Given the description of an element on the screen output the (x, y) to click on. 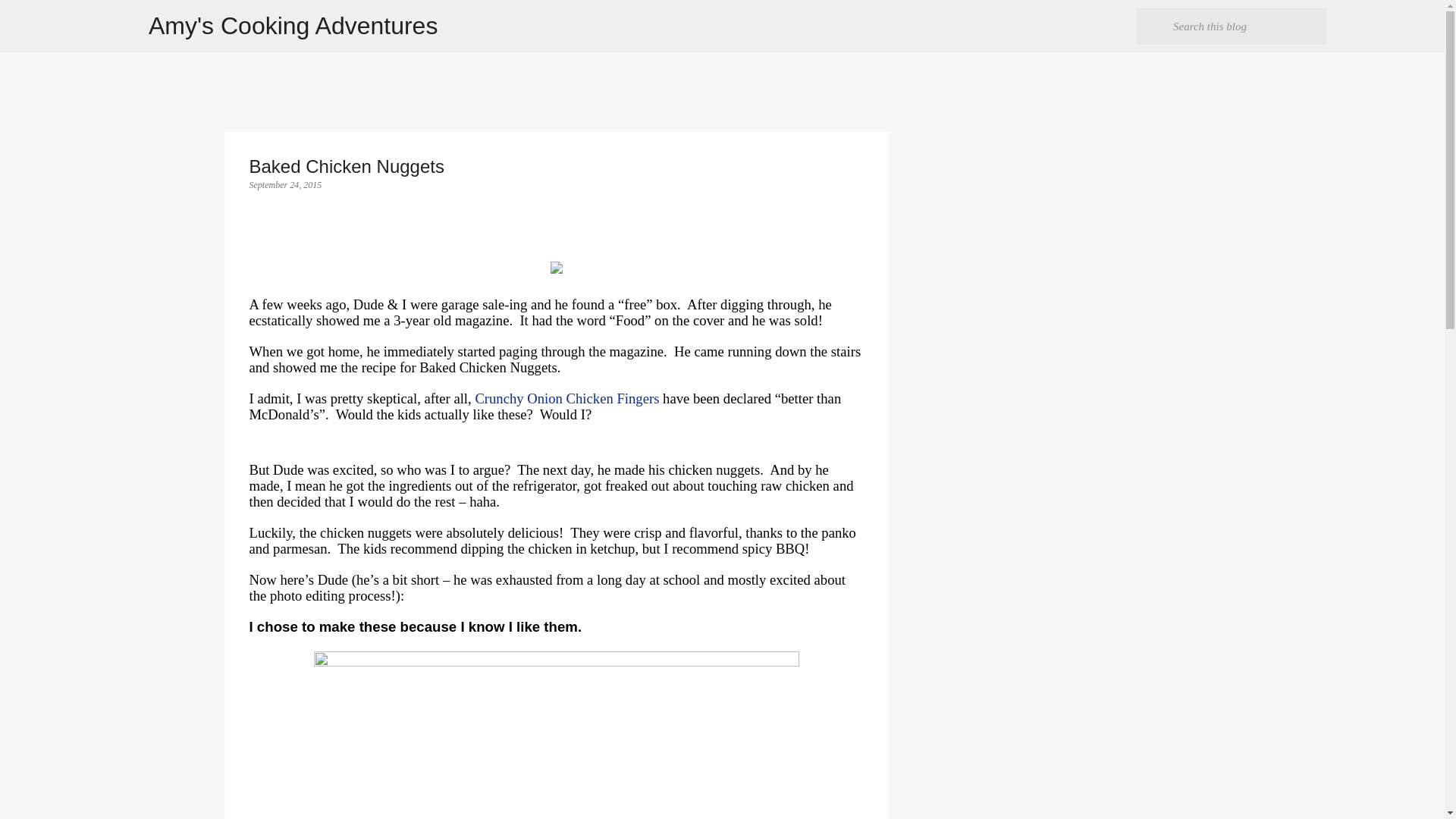
September 24, 2015 (284, 184)
permanent link (284, 184)
Amy's Cooking Adventures (293, 25)
Crunchy Onion Chicken Fingers (566, 398)
